Given the description of an element on the screen output the (x, y) to click on. 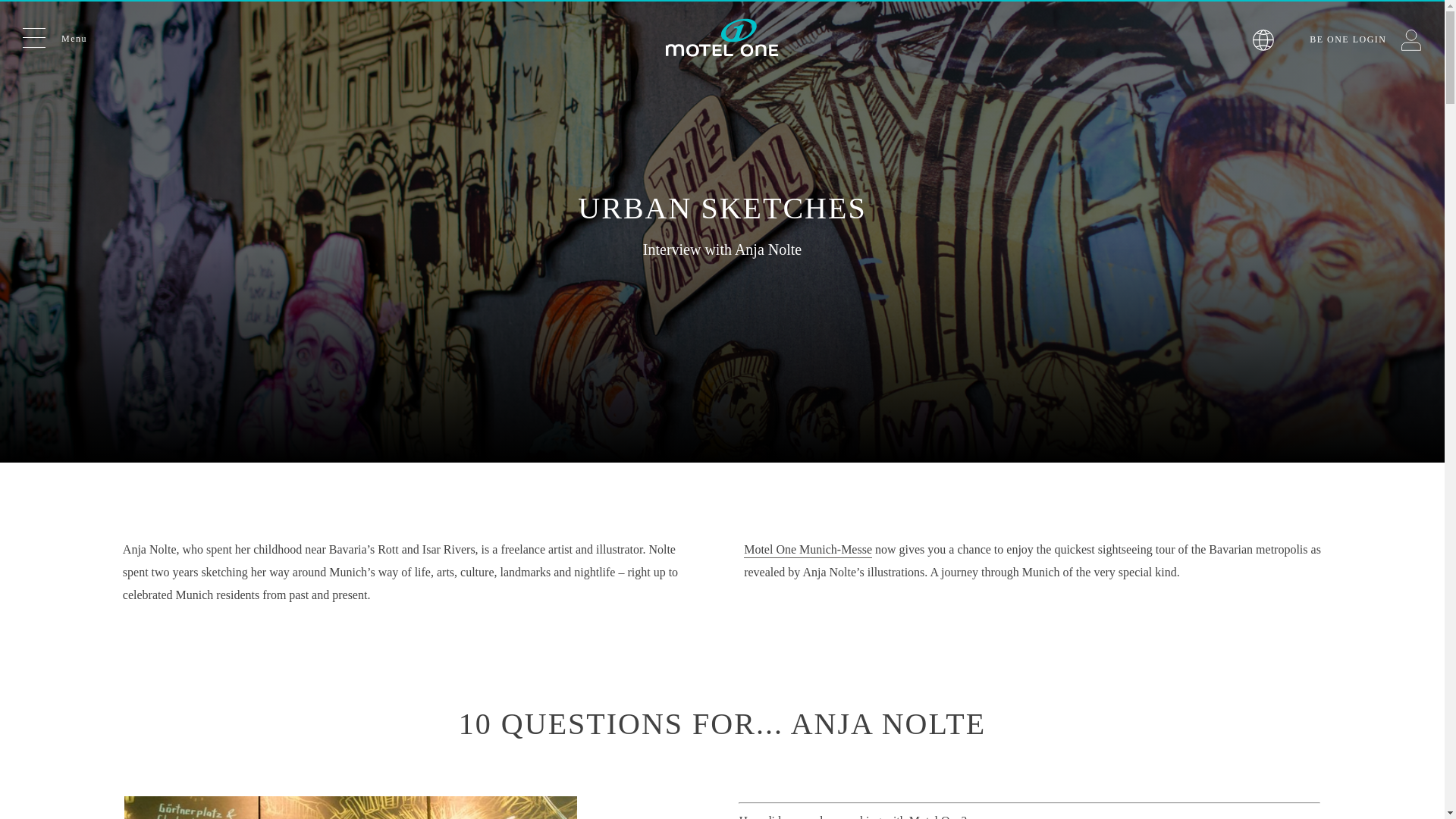
BE ONE LOGIN (1365, 39)
Select your language and currency (1262, 41)
Menu (54, 37)
